Given the description of an element on the screen output the (x, y) to click on. 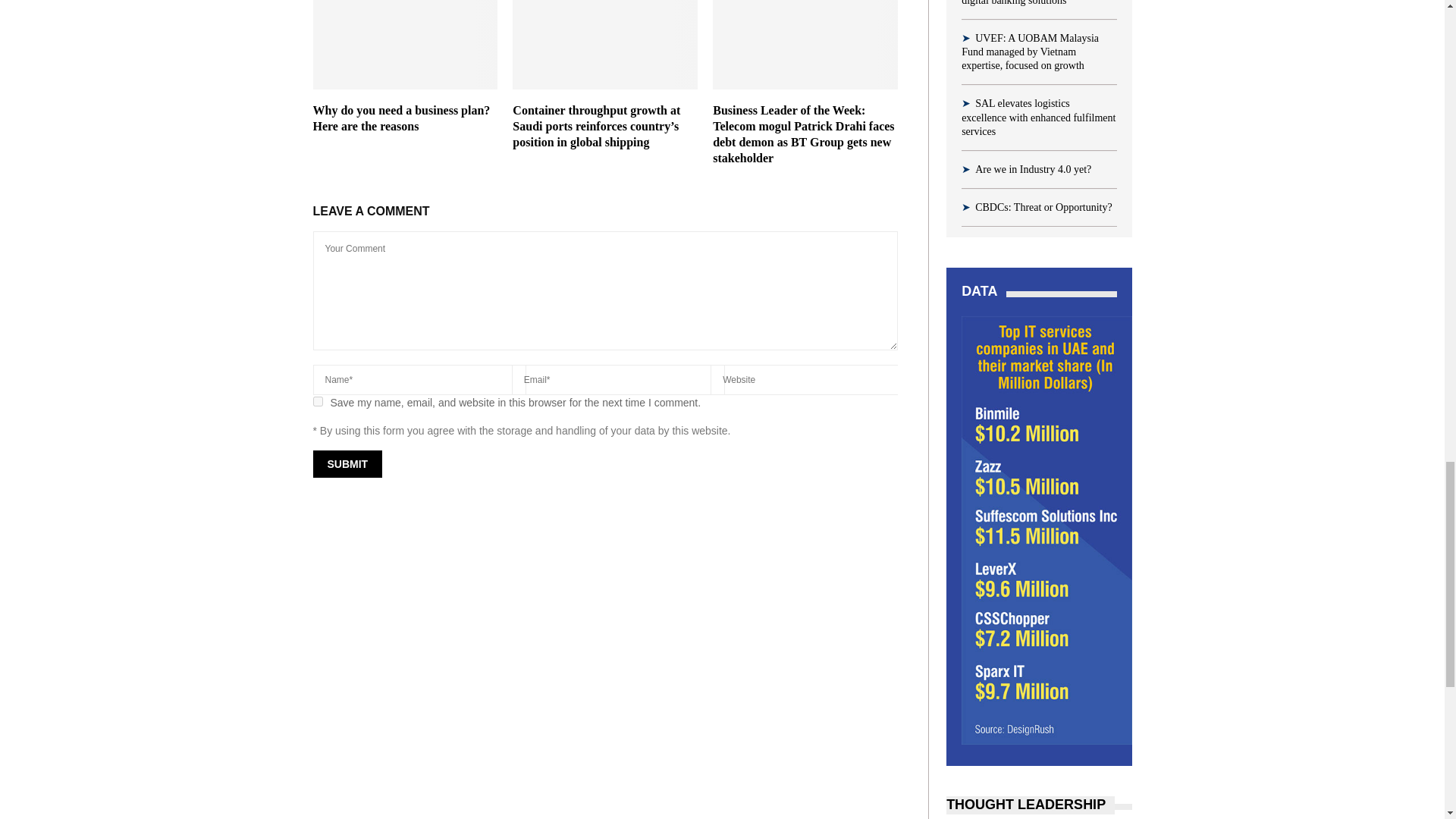
yes (317, 401)
 CBDCs: Threat or Opportunity?  (1043, 206)
 Are we in Industry 4.0 yet?  (1032, 169)
Submit (347, 463)
